Given the description of an element on the screen output the (x, y) to click on. 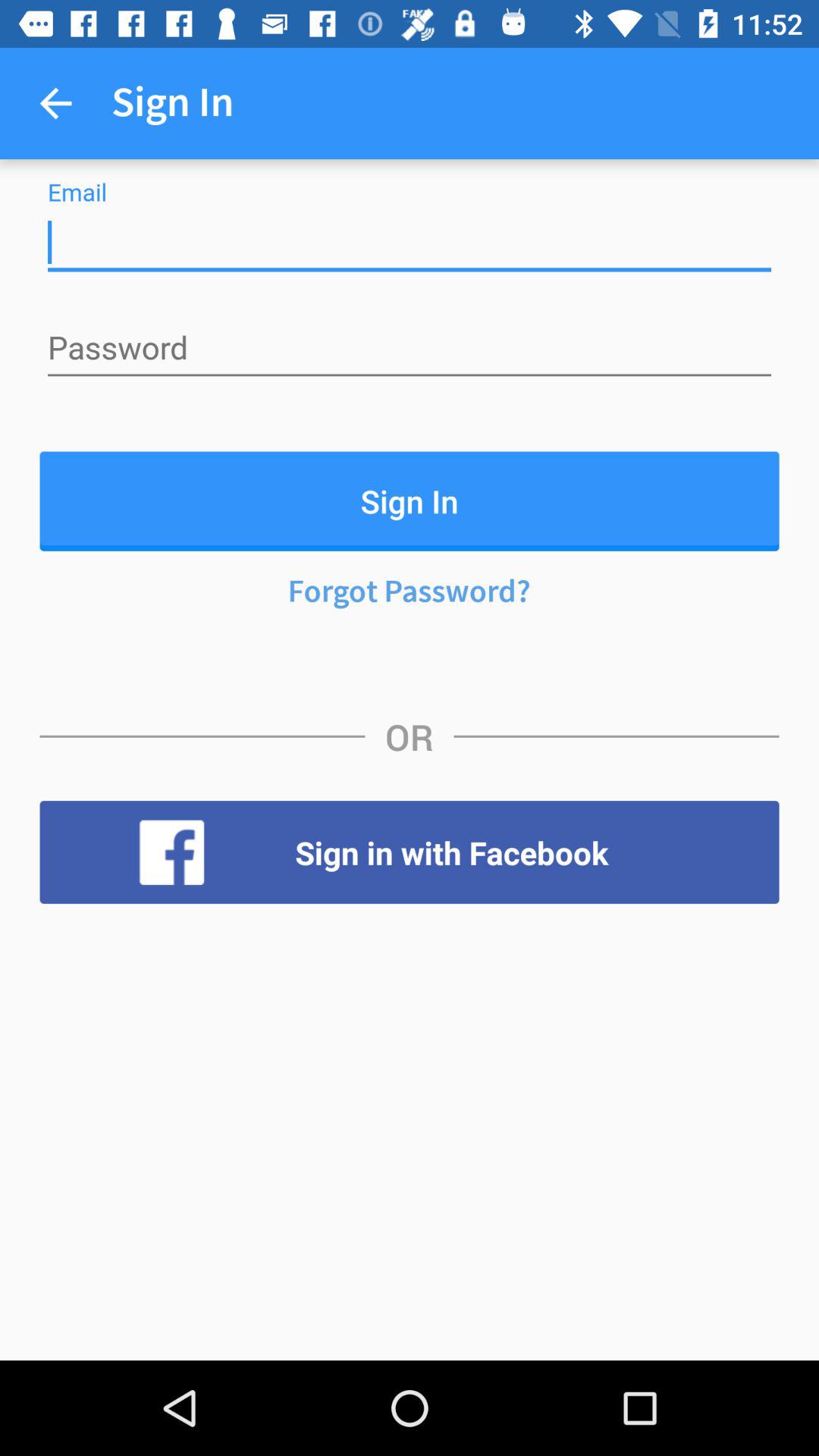
insert email (409, 242)
